Given the description of an element on the screen output the (x, y) to click on. 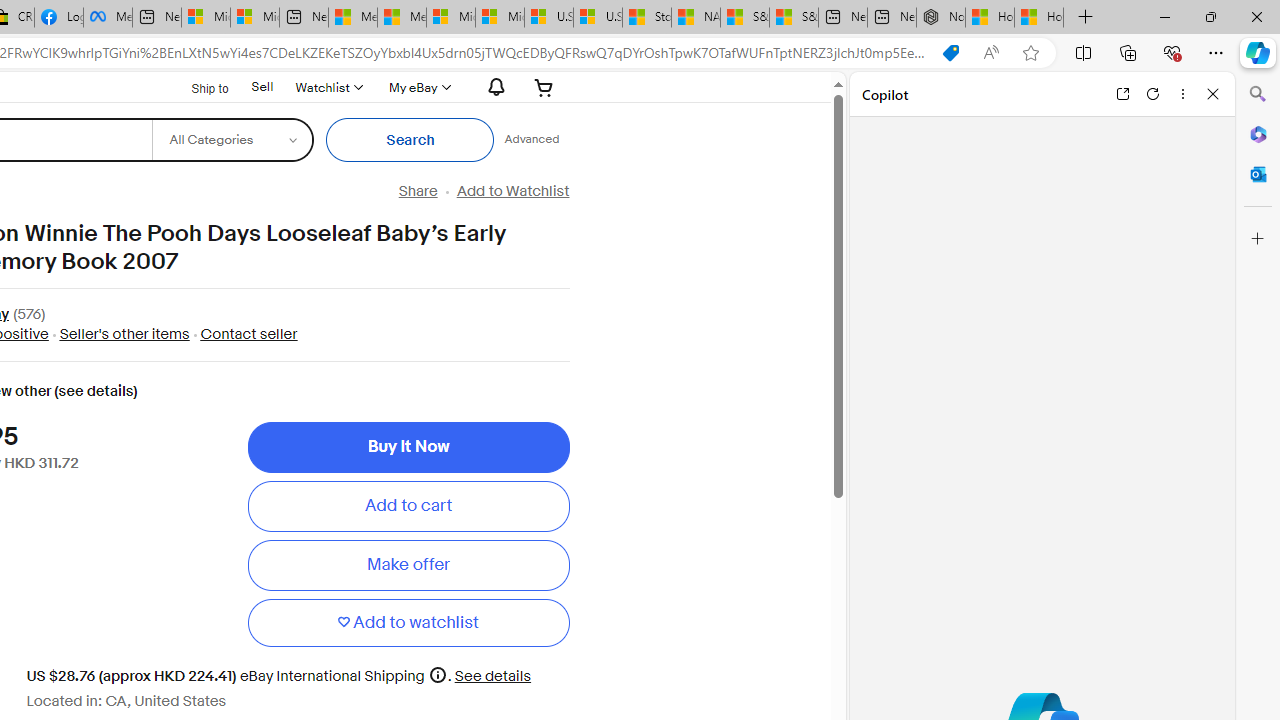
Seller's other items (123, 334)
Make offer (408, 565)
Advanced Search (531, 139)
Select a category for search (232, 139)
You have the best price! Shopping in Microsoft Edge (950, 53)
Add to Watchlist (512, 191)
Ship to (197, 85)
AutomationID: gh-eb-Alerts (493, 87)
More information (437, 673)
